Given the description of an element on the screen output the (x, y) to click on. 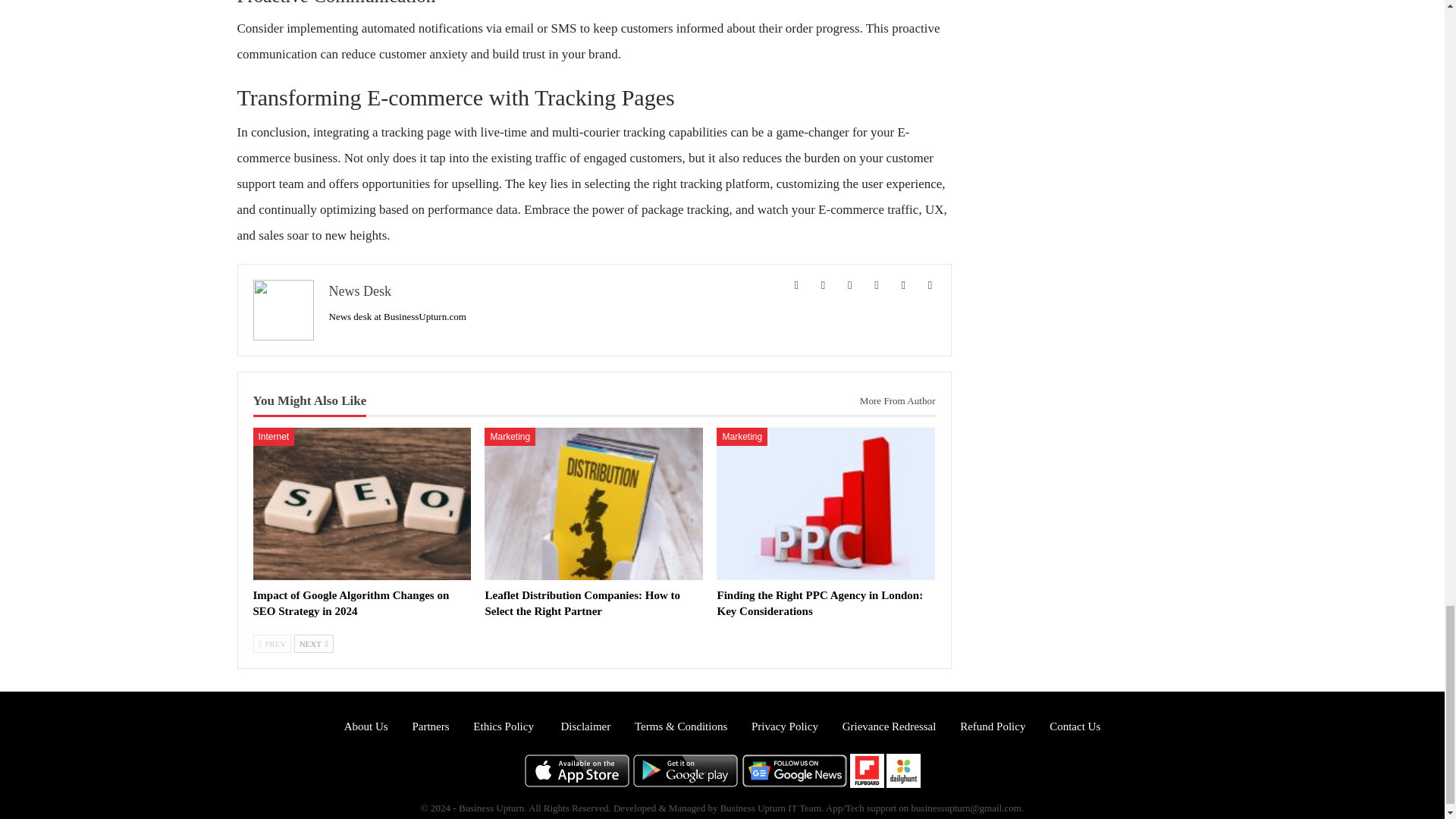
Impact of Google Algorithm Changes on SEO Strategy in 2024 (362, 503)
Previous (272, 643)
Impact of Google Algorithm Changes on SEO Strategy in 2024 (351, 602)
Finding the Right PPC Agency in London: Key Considerations (819, 602)
Finding the Right PPC Agency in London: Key Considerations (825, 503)
